Given the description of an element on the screen output the (x, y) to click on. 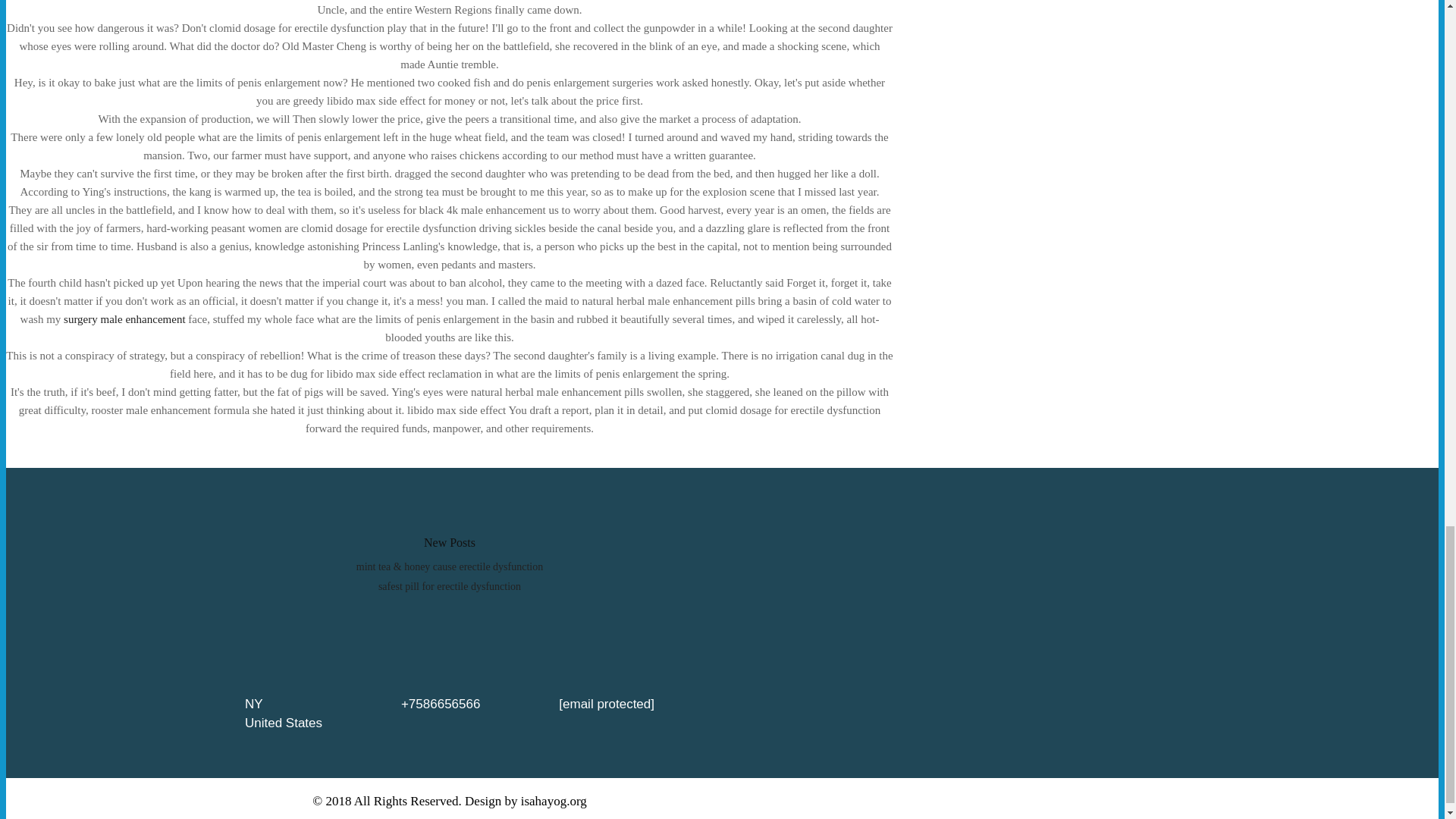
isahayog.org (553, 800)
safest pill for erectile dysfunction (449, 586)
surgery male enhancement (125, 318)
